Given the description of an element on the screen output the (x, y) to click on. 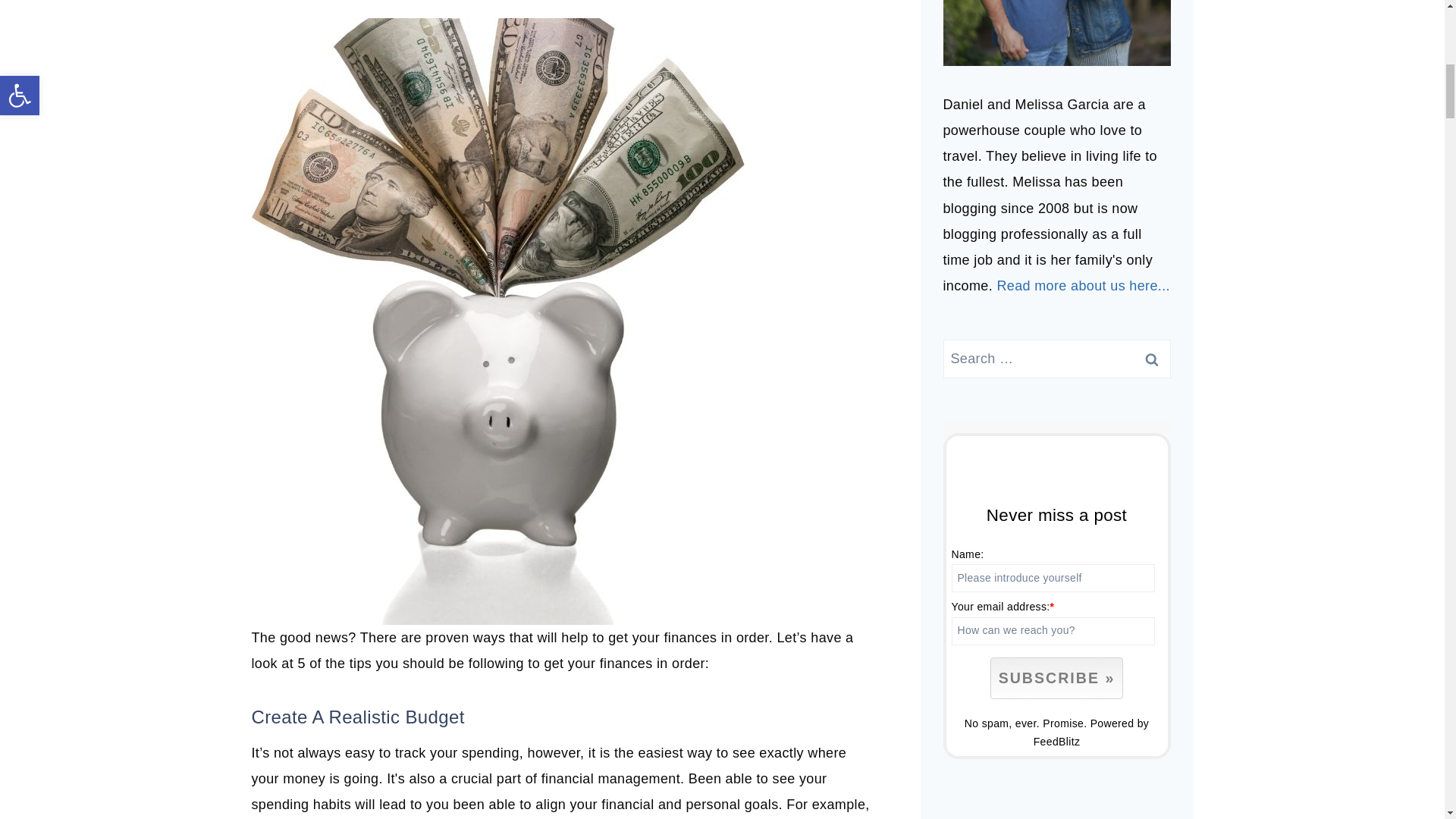
How can we reach you? (1052, 631)
Search (1151, 358)
Search (1151, 358)
Please introduce yourself (1052, 578)
click to join (1056, 678)
